Given the description of an element on the screen output the (x, y) to click on. 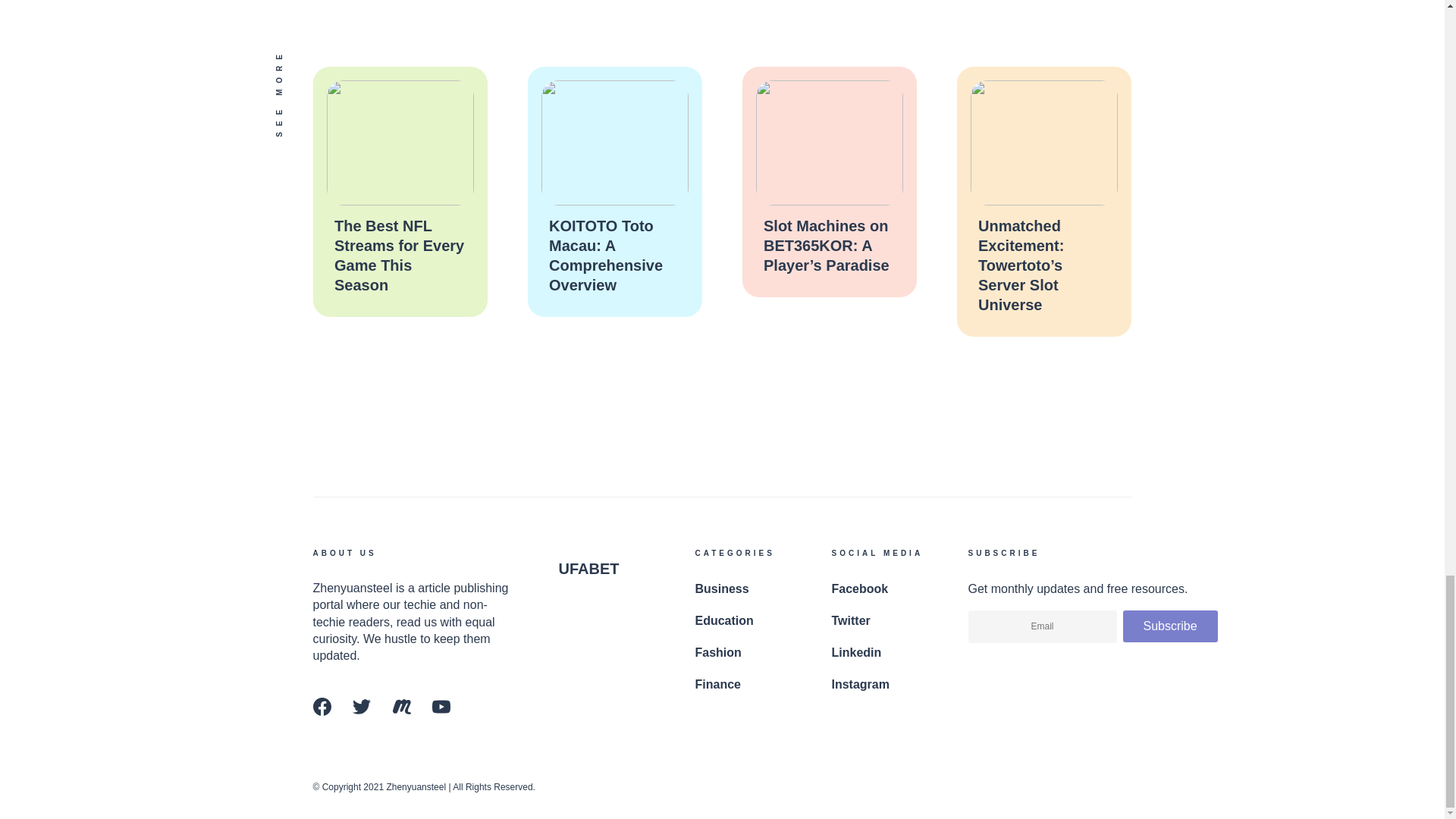
KOITOTO Toto Macau: A Comprehensive Overview (605, 255)
The Best NFL Streams for Every Game This Season (398, 255)
